Given the description of an element on the screen output the (x, y) to click on. 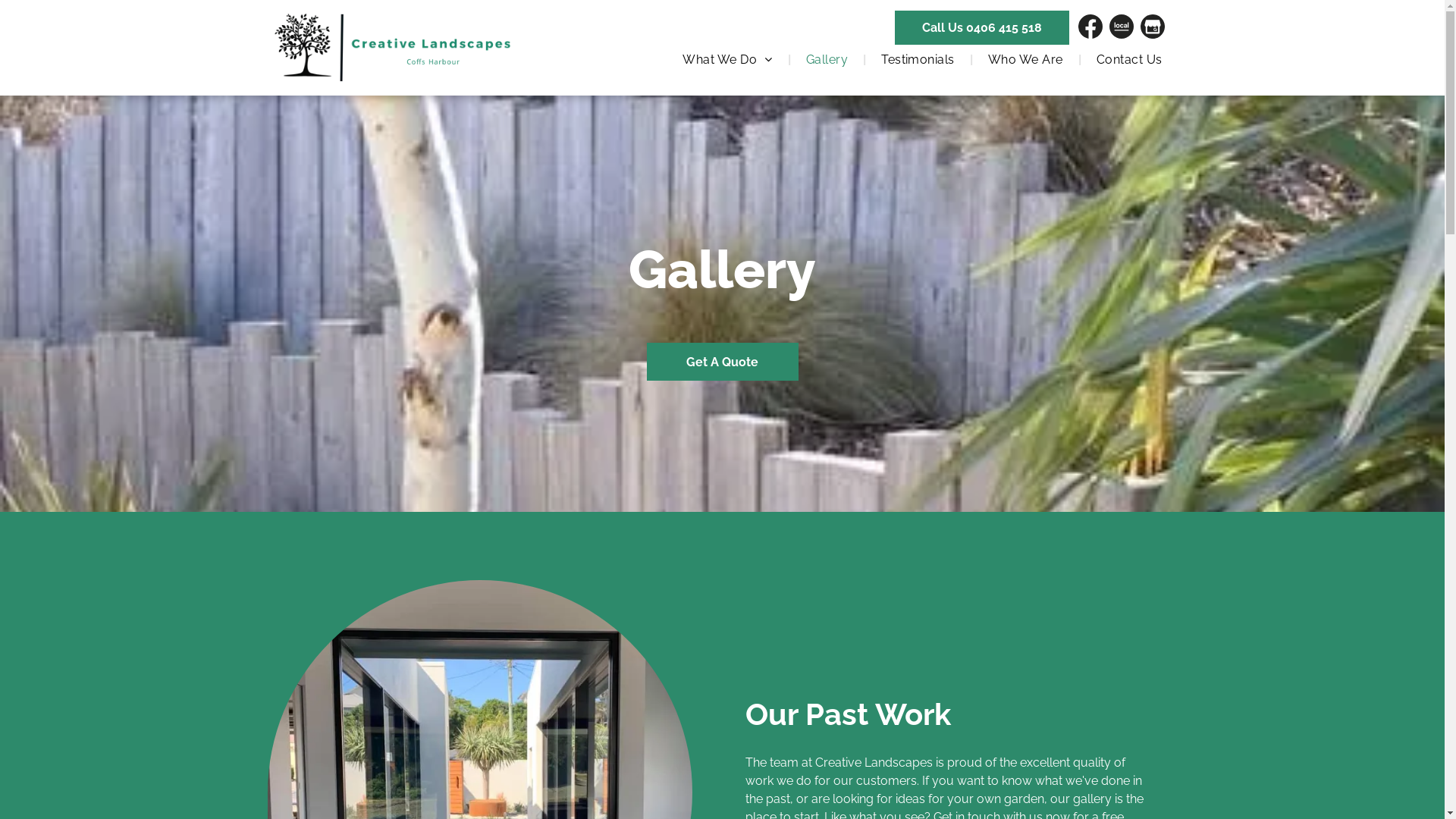
www.localsearch.com.au Element type: hover (1121, 26)
Testimonials Element type: text (917, 59)
What We Do Element type: text (727, 59)
Find Us On GMB Element type: hover (1152, 26)
Professional Landscapers in Coffs Harbour Element type: hover (391, 46)
Gallery Element type: text (826, 59)
Who We Are Element type: text (1025, 59)
Get A Quote Element type: text (721, 361)
Find Us On Facebook Element type: hover (1090, 26)
Contact Us Element type: text (1129, 59)
Call Us 0406 415 518 Element type: text (982, 27)
